Given the description of an element on the screen output the (x, y) to click on. 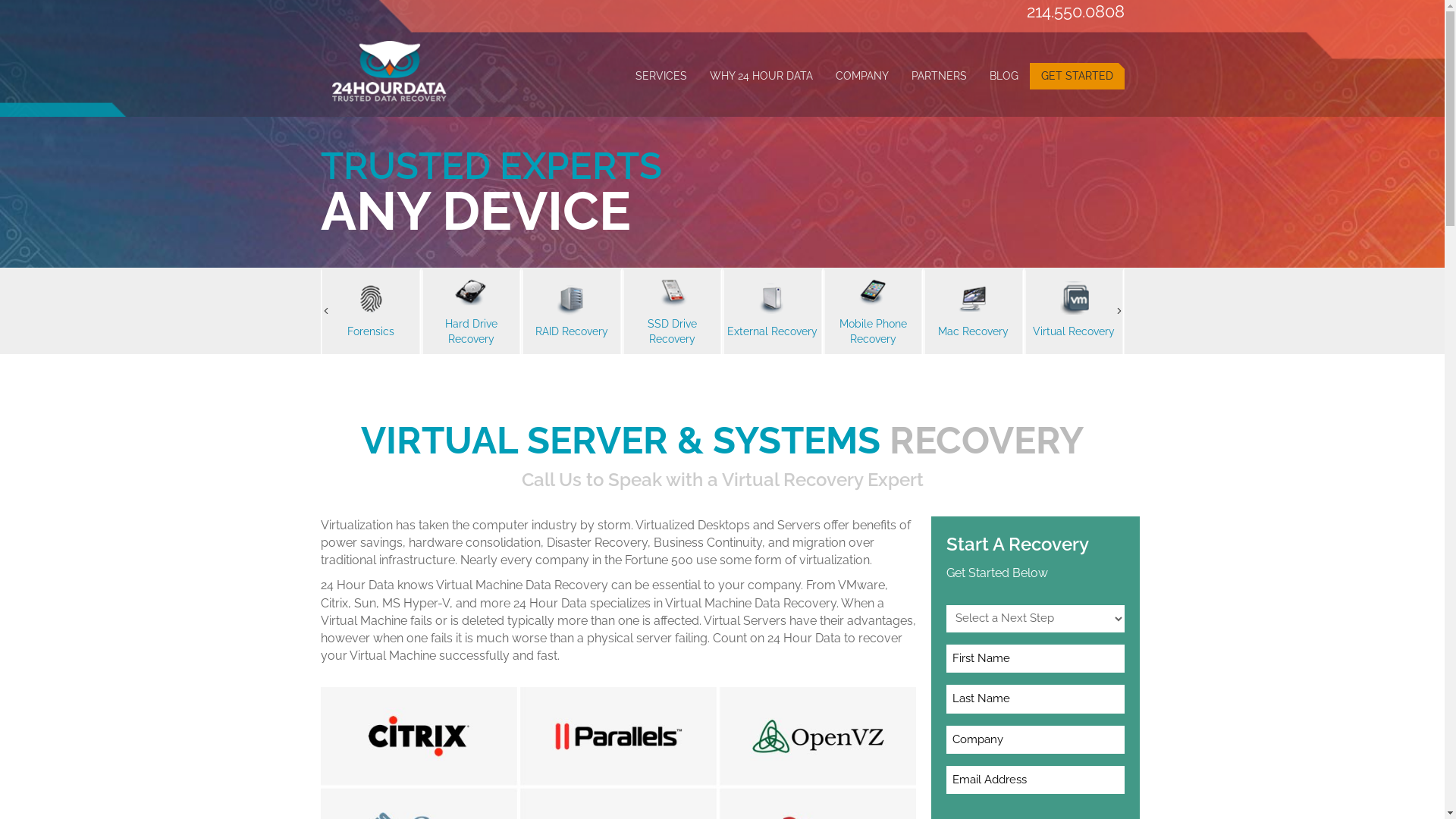
WHY 24 HOUR DATA Element type: text (760, 75)
BLOG Element type: text (1003, 75)
Previous Element type: text (325, 310)
Forensics Element type: text (471, 312)
PARTNERS Element type: text (938, 75)
Hard Drive Recovery Element type: text (572, 312)
214.550.0808 Element type: text (1075, 11)
Expert eDiscovery Element type: text (370, 312)
SSD Drive Recovery Element type: text (772, 312)
COMPANY Element type: text (861, 75)
Mac Recovery Element type: text (1074, 312)
Next Element type: text (1118, 310)
External Recovery Element type: text (873, 312)
RAID Recovery Element type: text (672, 312)
SERVICES Element type: text (660, 75)
Mobile Phone Recovery Element type: text (973, 312)
GET STARTED Element type: text (1076, 75)
